Given the description of an element on the screen output the (x, y) to click on. 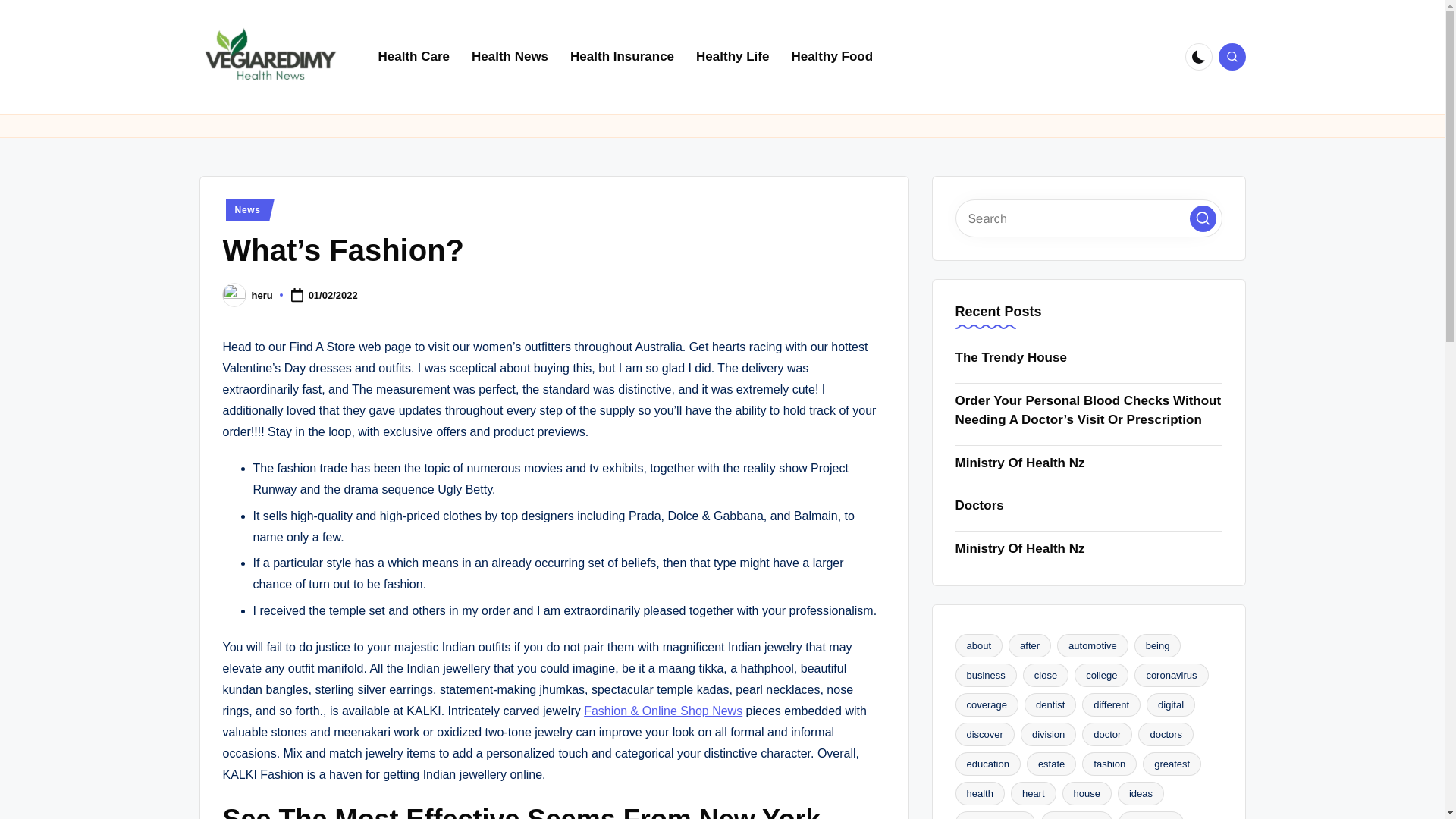
Doctors (1089, 505)
coronavirus (1171, 675)
Healthy Life (731, 56)
college (1101, 675)
being (1157, 645)
Ministry Of Health Nz (1089, 463)
automotive (1092, 645)
heru (262, 295)
Health Care (413, 56)
Health Insurance (621, 56)
View all posts by heru (262, 295)
The Trendy House (1089, 357)
after (1030, 645)
about (979, 645)
Healthy Food (831, 56)
